Given the description of an element on the screen output the (x, y) to click on. 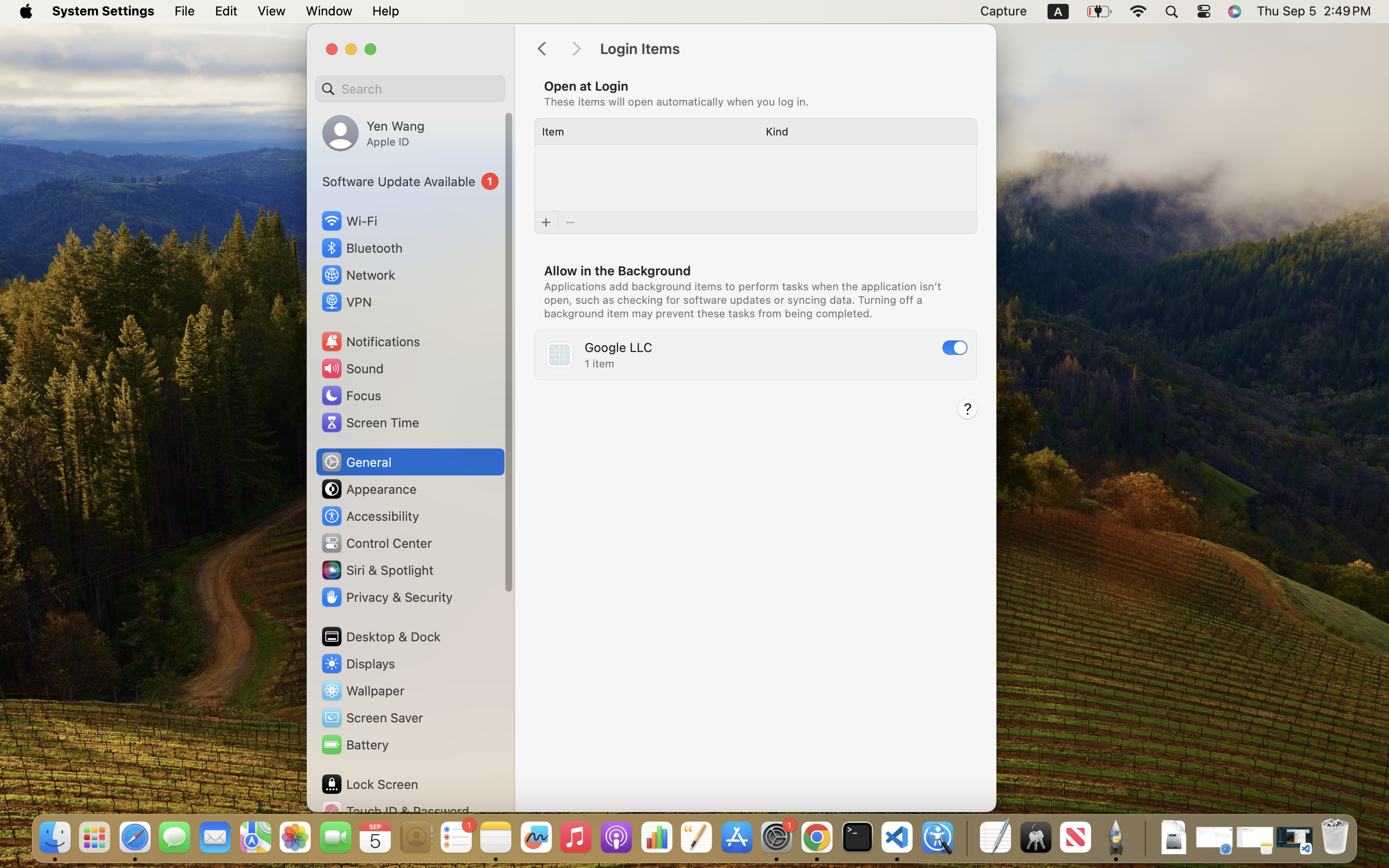
Google LLC Element type: AXStaticText (618, 346)
Siri & Spotlight Element type: AXStaticText (376, 569)
Displays Element type: AXStaticText (357, 663)
Bluetooth Element type: AXStaticText (361, 247)
Screen Saver Element type: AXStaticText (371, 717)
